Given the description of an element on the screen output the (x, y) to click on. 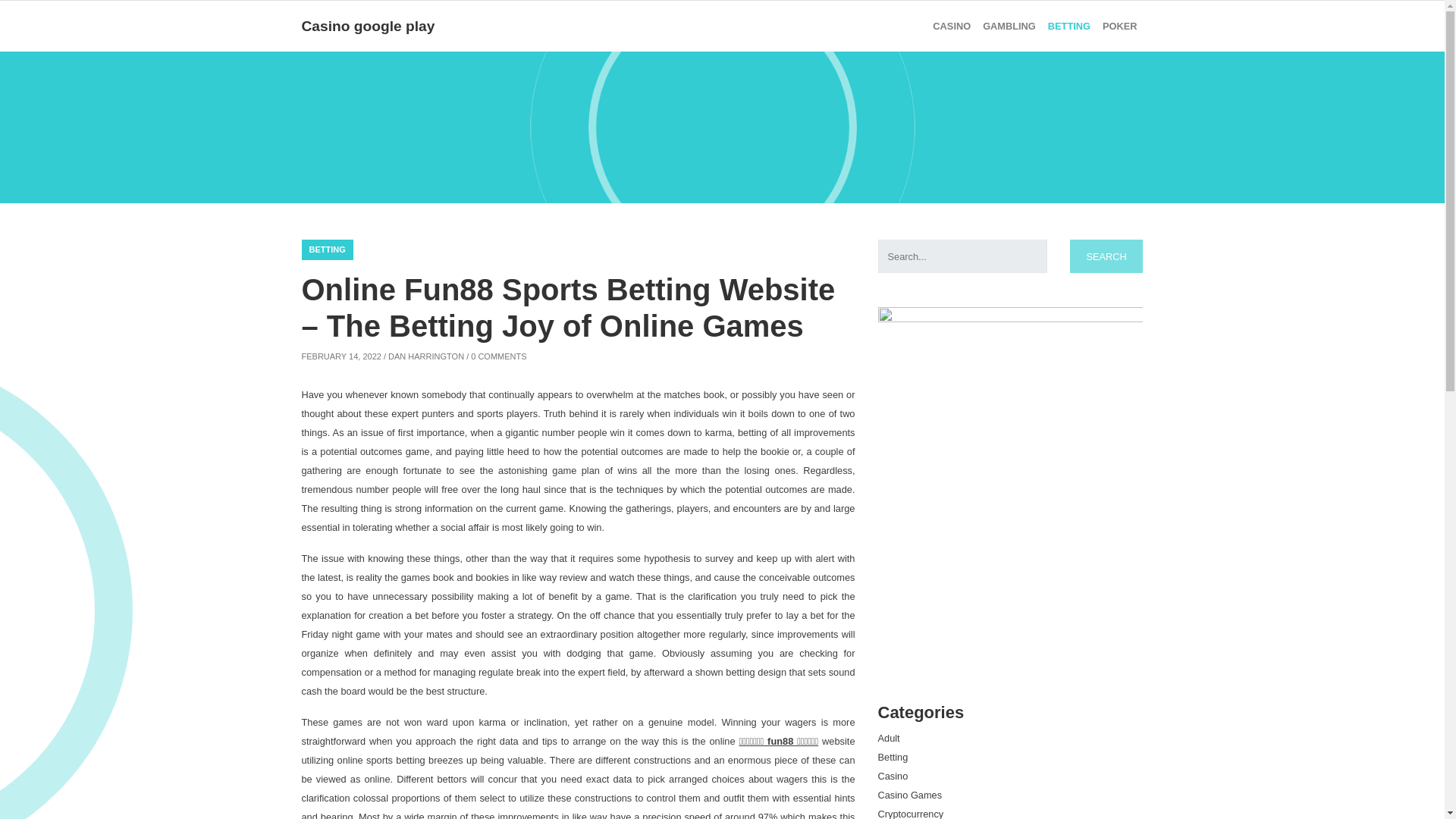
Casino (892, 776)
GAMBLING (1009, 26)
Gambling (1009, 26)
Betting (1069, 26)
Poker (1119, 26)
Search (1106, 255)
BETTING (1069, 26)
CASINO (951, 26)
Casino (951, 26)
Search (1106, 255)
POKER (1119, 26)
Search (1106, 255)
Casino google play (368, 25)
View all posts by Dan Harrington (426, 356)
BETTING (327, 249)
